Given the description of an element on the screen output the (x, y) to click on. 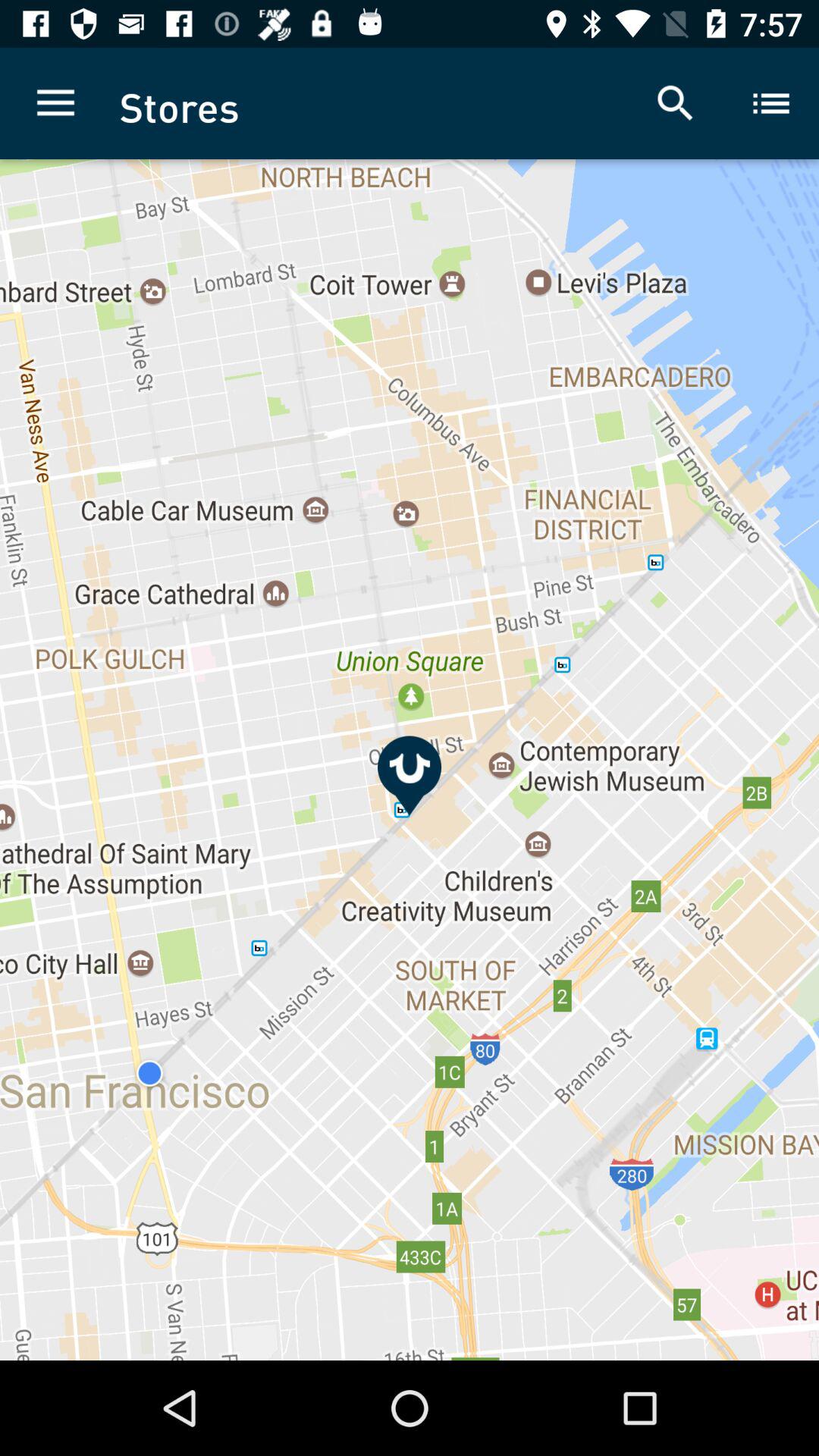
turn on the app to the right of stores item (675, 103)
